Given the description of an element on the screen output the (x, y) to click on. 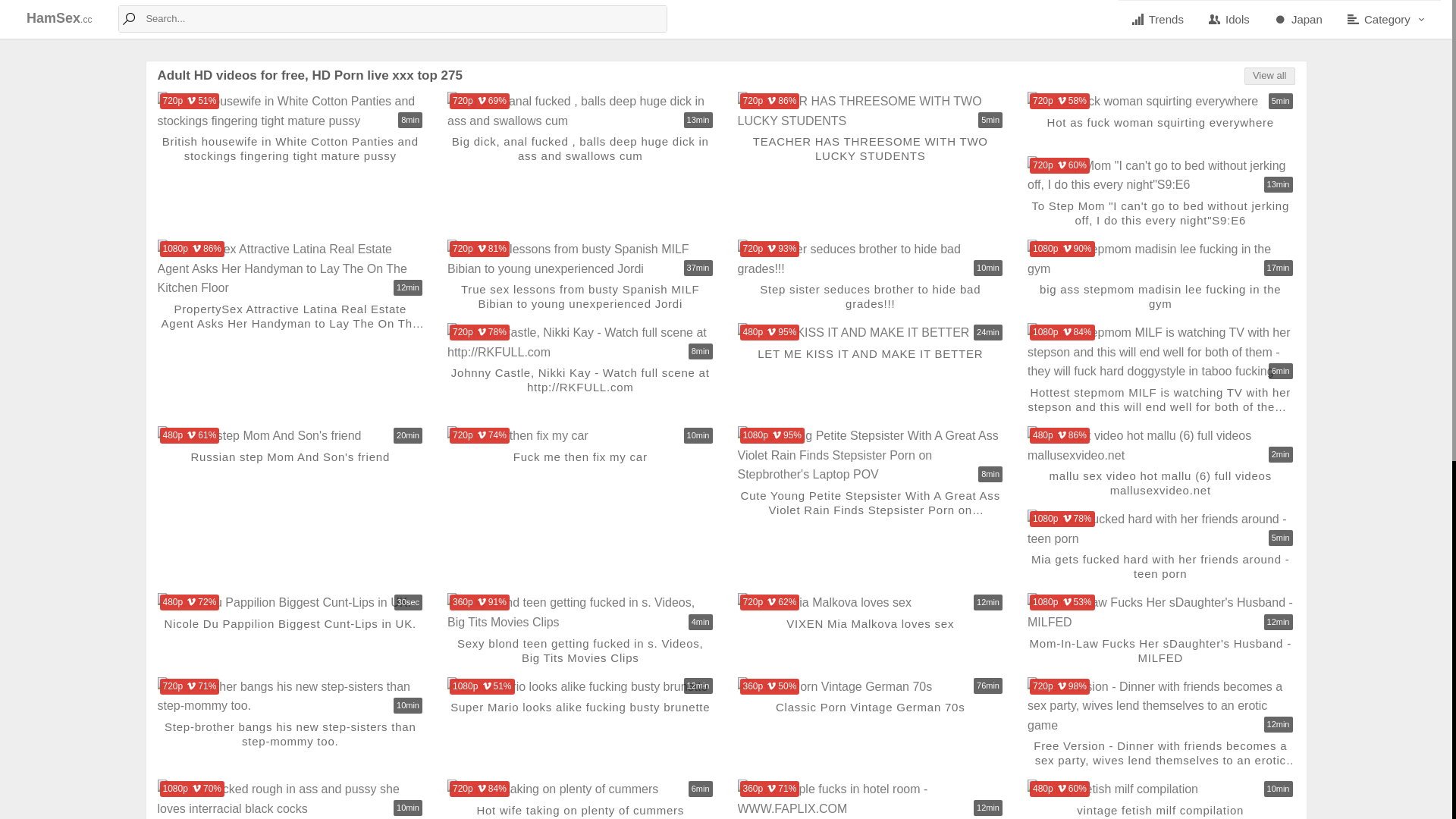
Hot wife taking on plenty of cummers Element type: hover (581, 789)
VIXEN Mia Malkova loves sex Element type: hover (870, 602)
Trends Element type: text (1156, 19)
Step-brother bangs his new step-sisters than step-mommy too. Element type: hover (291, 695)
Category Element type: text (1386, 19)
mallu sex video hot mallu (6) full videos mallusexvideo.net Element type: text (1161, 482)
Hot as fuck woman squirting everywhere Element type: text (1161, 129)
Fuck me then fix my car Element type: hover (581, 435)
Fuck me then fix my car Element type: text (581, 463)
Nicole Du Pappilion Biggest Cunt-Lips in UK. Element type: text (291, 630)
VIXEN Mia Malkova loves sex Element type: text (870, 630)
Mom-In-Law Fucks Her sDaughter's Husband - MILFED Element type: hover (1161, 612)
Teen couple fucks in hotel room - WWW.FAPLIX.COM Element type: hover (870, 798)
Step-brother bangs his new step-sisters than step-mommy too. Element type: text (291, 733)
Russian step Mom And Son's friend Element type: hover (291, 435)
Super Mario looks alike fucking busty brunette Element type: text (581, 713)
vintage fetish milf compilation Element type: hover (1161, 789)
Idols Element type: text (1228, 19)
TEACHER HAS THREESOME WITH TWO LUCKY STUDENTS Element type: text (870, 148)
Classic Porn Vintage German 70s Element type: text (870, 713)
Japan Element type: text (1297, 19)
big ass stepmom madisin lee fucking in the gym Element type: hover (1161, 258)
Hot as fuck woman squirting everywhere Element type: hover (1161, 101)
View all Element type: text (1269, 76)
Mom-In-Law Fucks Her sDaughter's Husband - MILFED Element type: text (1161, 649)
Classic Porn Vintage German 70s Element type: hover (870, 686)
TEACHER HAS THREESOME WITH TWO LUCKY STUDENTS Element type: hover (870, 110)
Mia gets fucked hard with her friends around - teen porn Element type: hover (1161, 528)
mallu sex video hot mallu  (6) full videos mallusexvideo.net Element type: hover (1161, 445)
big ass stepmom madisin lee fucking in the gym Element type: text (1161, 296)
HamSex.cc Element type: text (64, 18)
Step sister seduces brother to hide bad grades!!! Element type: text (870, 296)
LET ME KISS IT AND MAKE IT BETTER Element type: hover (870, 332)
LET ME KISS IT AND MAKE IT BETTER Element type: text (870, 360)
Super Mario looks alike fucking busty brunette Element type: hover (581, 686)
Mia gets fucked hard with her friends around - teen porn Element type: text (1161, 566)
Step sister seduces brother to hide bad grades!!! Element type: hover (870, 258)
Russian step Mom And Son's friend Element type: text (291, 463)
Nicole Du Pappilion Biggest Cunt-Lips in UK. Element type: hover (291, 602)
